Given the description of an element on the screen output the (x, y) to click on. 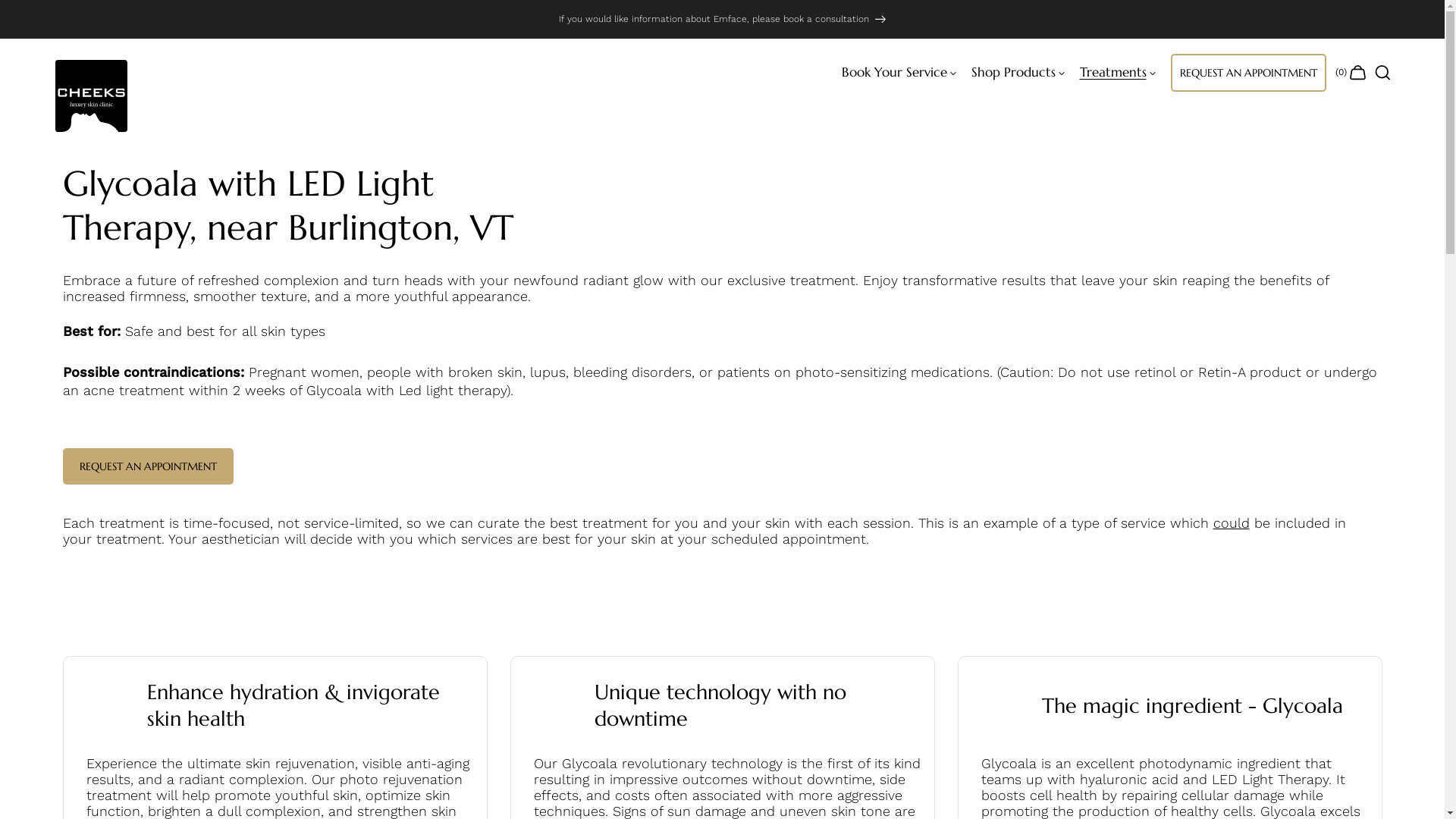
Shop Products Element type: text (1012, 72)
REQUEST AN APPOINTMENT Element type: text (1248, 72)
Treatments Element type: text (1112, 72)
(0)
> Element type: text (1351, 72)
Book Your Service Element type: text (894, 72)
REQUEST AN APPOINTMENT Element type: text (147, 466)
